Given the description of an element on the screen output the (x, y) to click on. 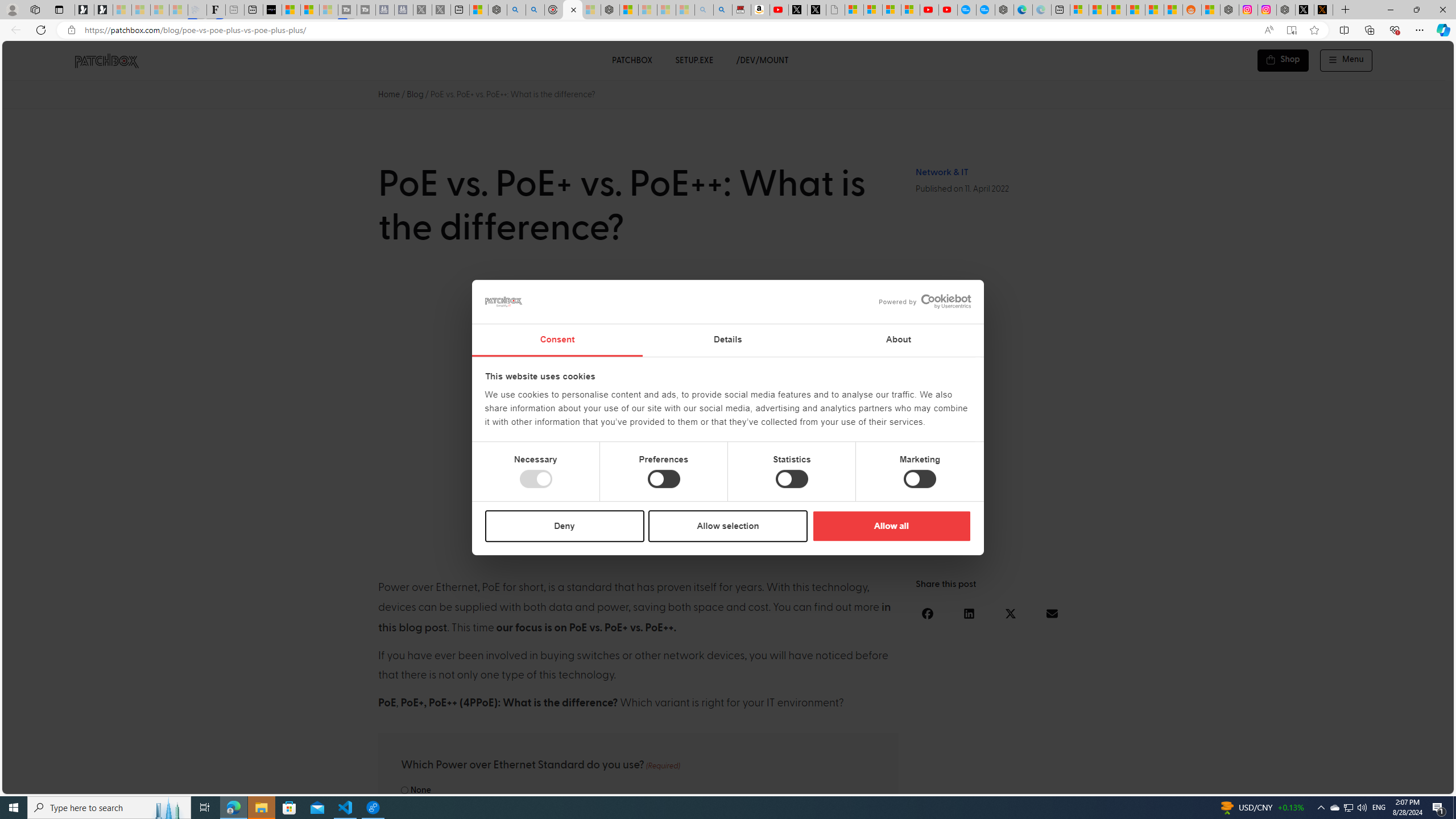
Amazon Echo Dot PNG - Search Images (722, 9)
Language switcher : Slovenian (1333, 782)
Language switcher : Dutch (1276, 782)
Language switcher : Italian (1265, 782)
Menu Off-Canvas (1346, 60)
Language switcher : Polish (1300, 782)
Untitled (835, 9)
Language switcher : French (1243, 782)
poe ++ standard - Search (534, 9)
